Given the description of an element on the screen output the (x, y) to click on. 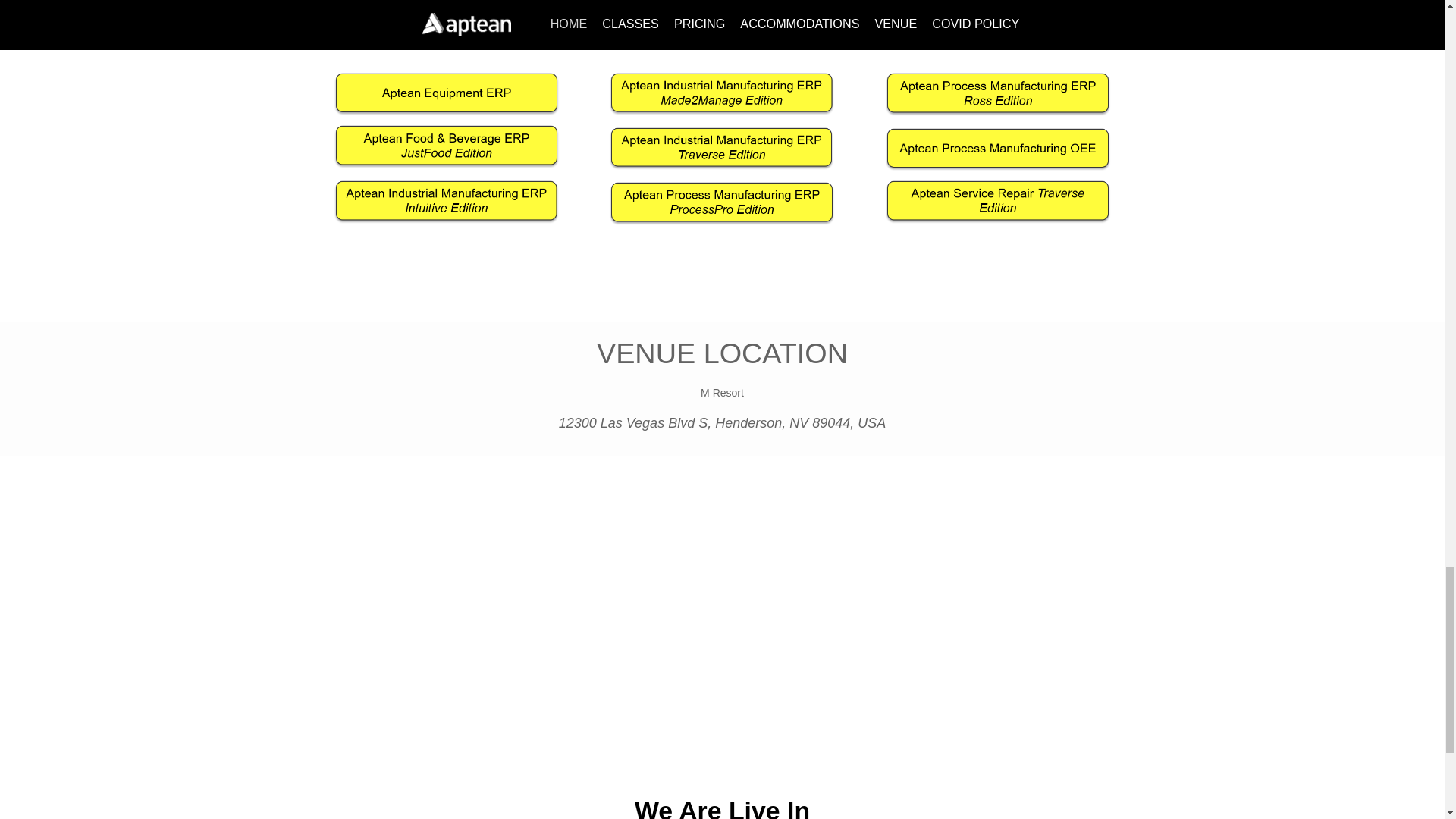
12300 Las Vegas Blvd S, Henderson, NV 89044, USA (722, 422)
SELECT YOUR PRODUCT TO START REGISTRATION (721, 792)
